Given the description of an element on the screen output the (x, y) to click on. 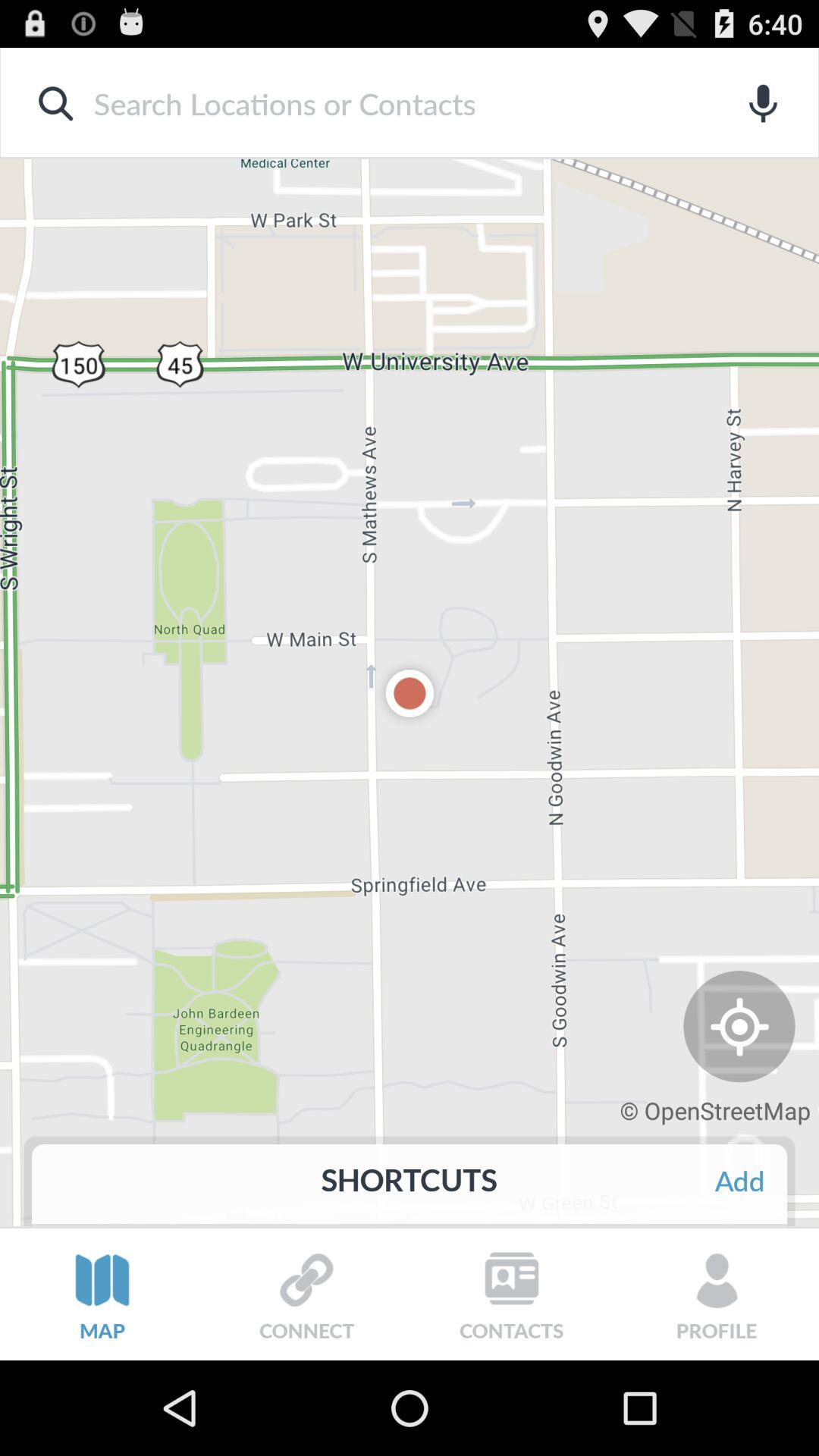
search query (385, 103)
